Given the description of an element on the screen output the (x, y) to click on. 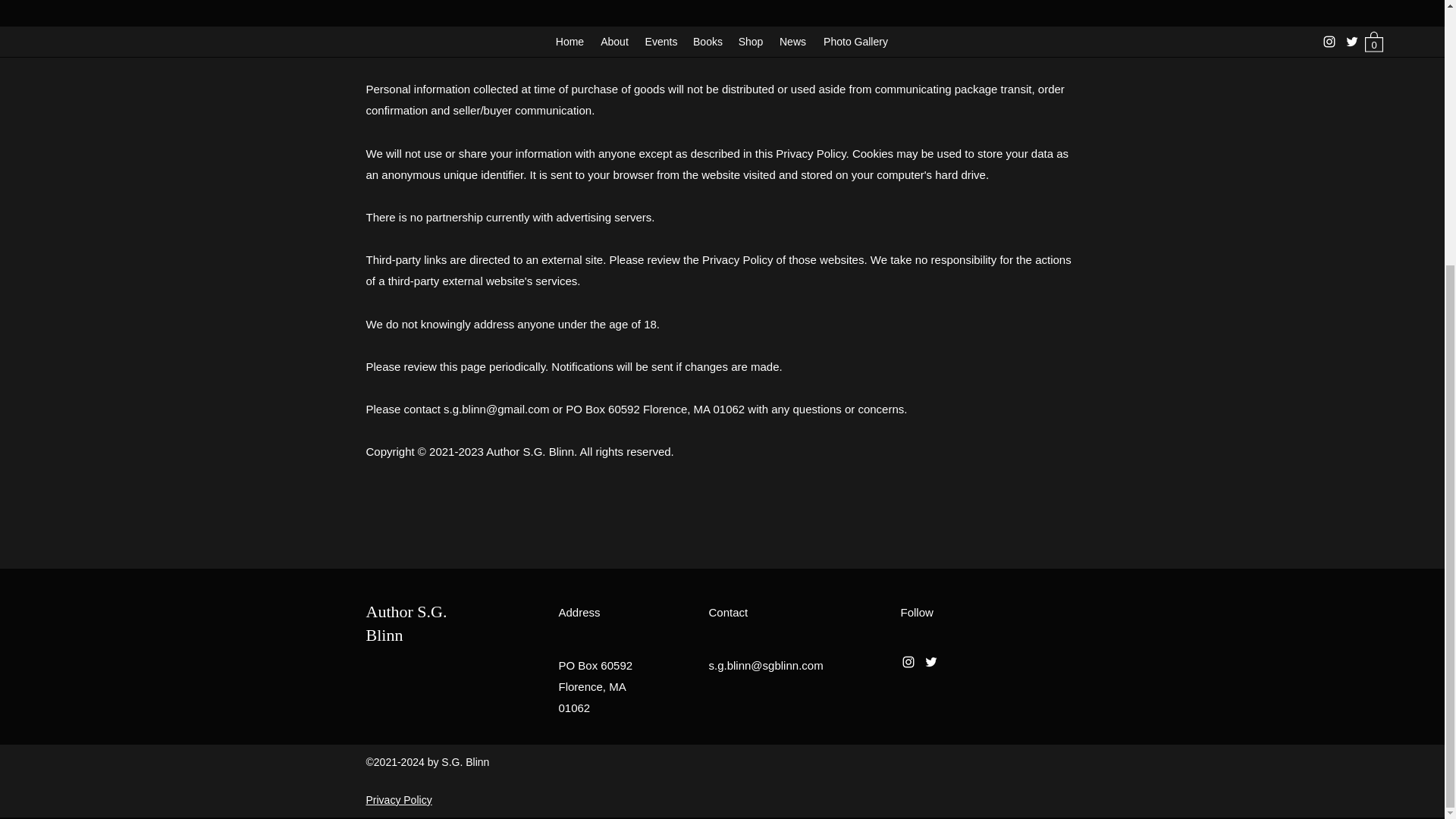
Privacy Policy (397, 799)
Author S.G. Blinn (405, 622)
